Given the description of an element on the screen output the (x, y) to click on. 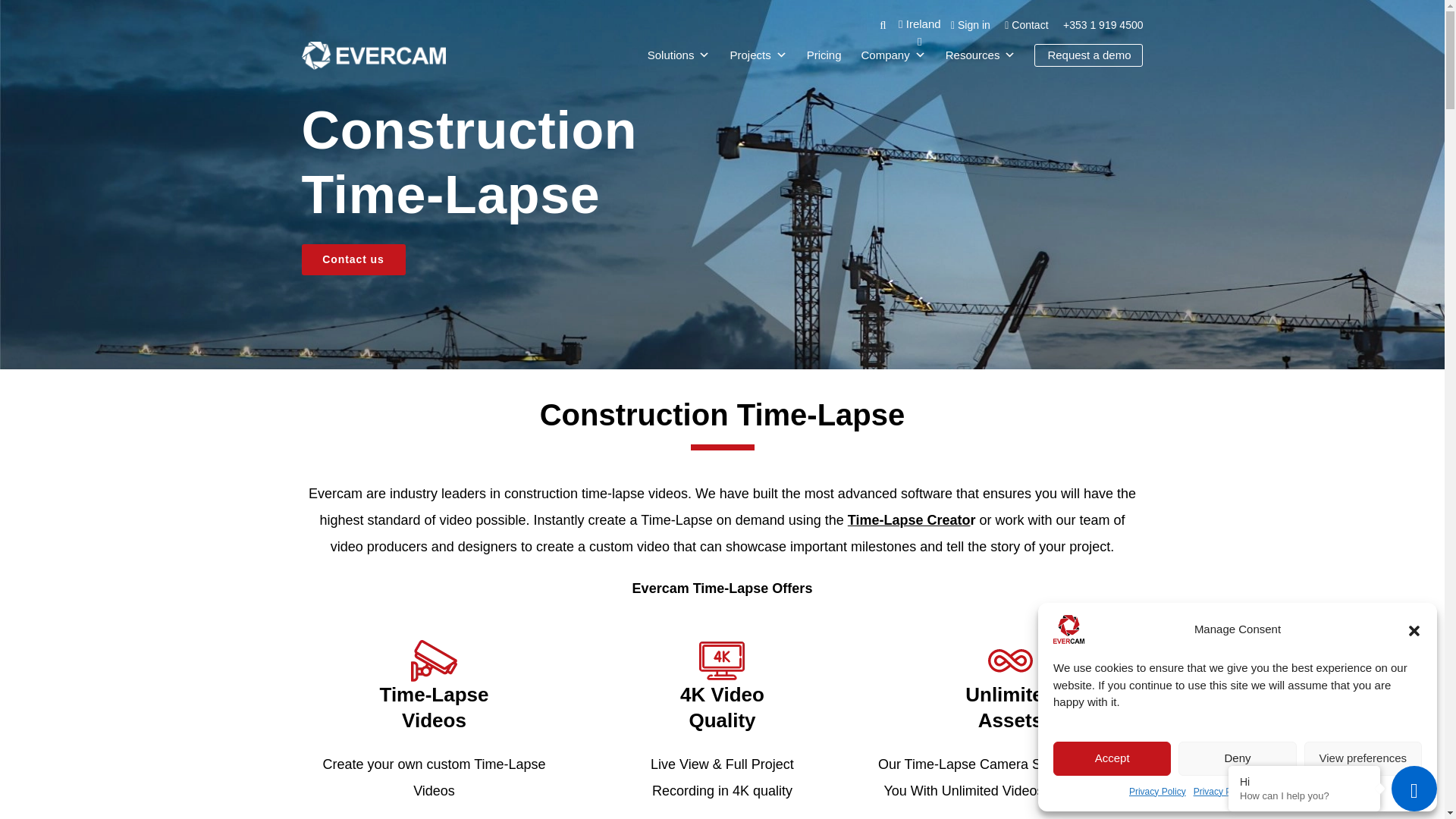
Privacy Policy (1157, 791)
Ireland (919, 32)
Accept (1111, 758)
Solutions (678, 55)
Privacy Policy (1221, 791)
Deny (1236, 758)
View preferences (1363, 758)
Contact (1026, 24)
Hi (1304, 781)
Sign in (970, 24)
Evercam Trust Center (1301, 791)
How can I help you? (1304, 795)
